Given the description of an element on the screen output the (x, y) to click on. 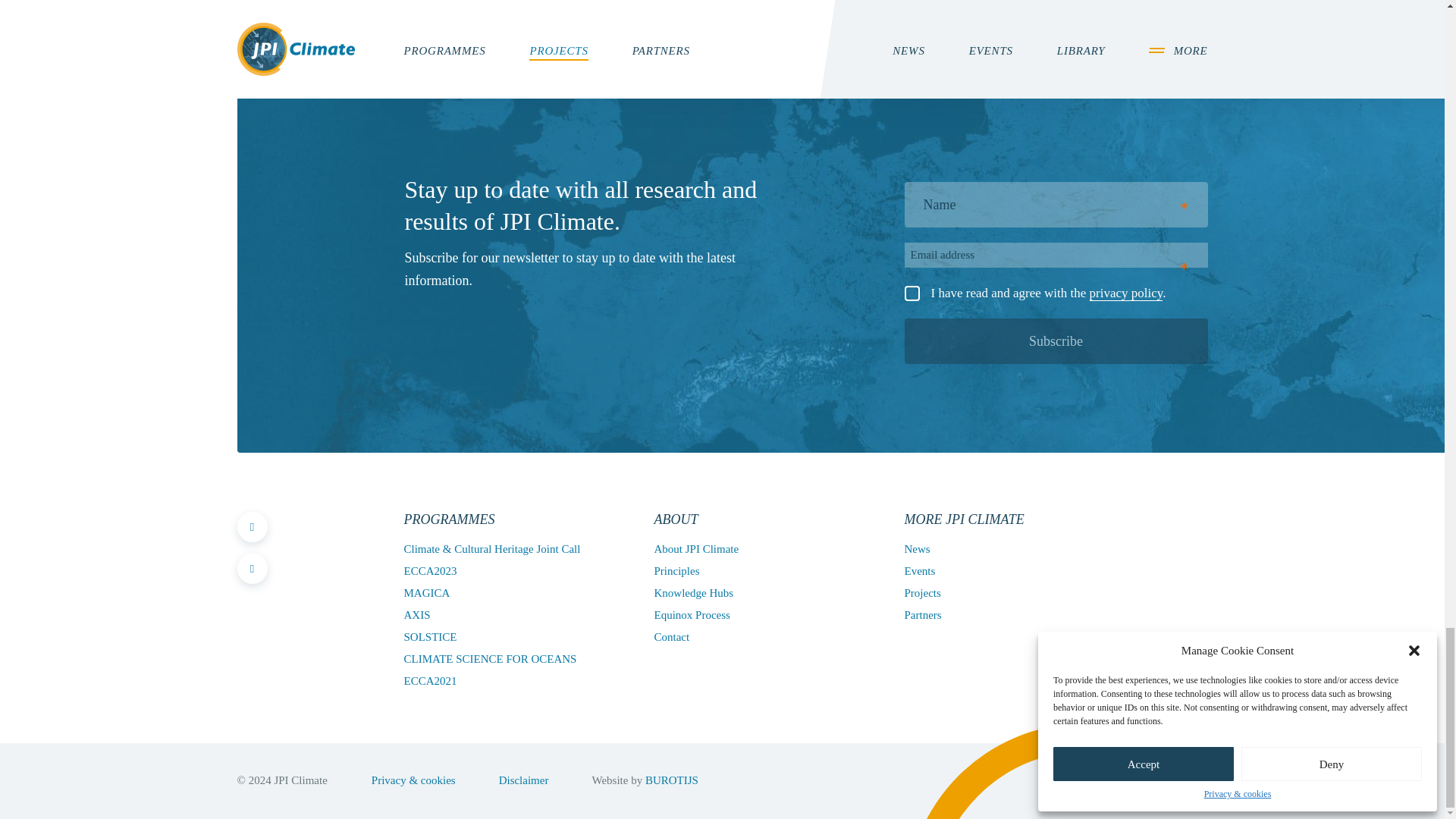
Subscribe (1055, 340)
